Given the description of an element on the screen output the (x, y) to click on. 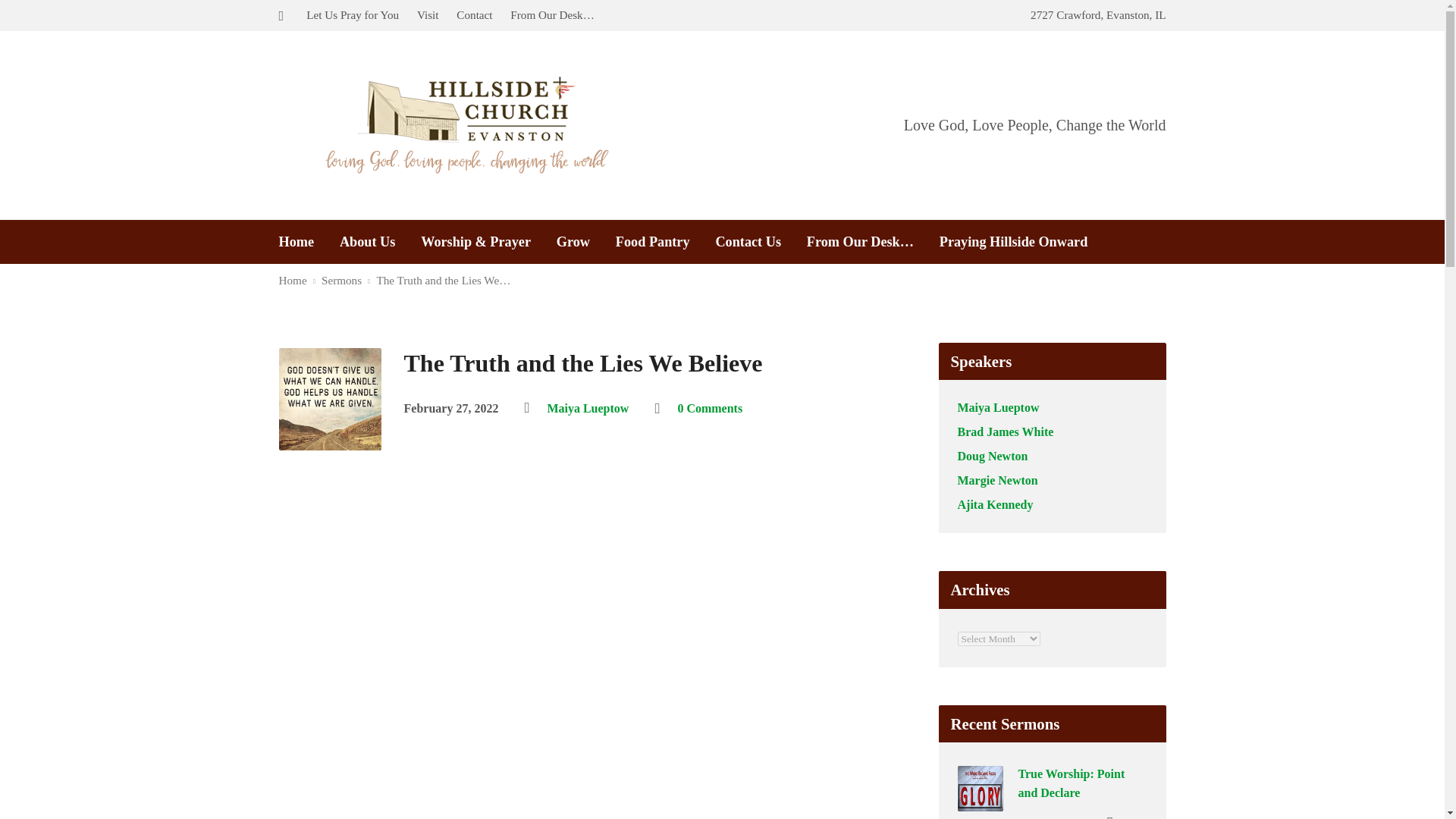
0 Comments (709, 408)
Grow (572, 241)
True Worship: Point and Declare (979, 800)
Let Us Pray for You (351, 14)
Praying Hillside Onward (1013, 241)
Sermons (341, 279)
Contact Us (747, 241)
Brad James White (1004, 431)
Home (296, 241)
0 Comments (709, 408)
Home (293, 279)
Food Pantry (652, 241)
Visit (427, 14)
Contact (474, 14)
